Given the description of an element on the screen output the (x, y) to click on. 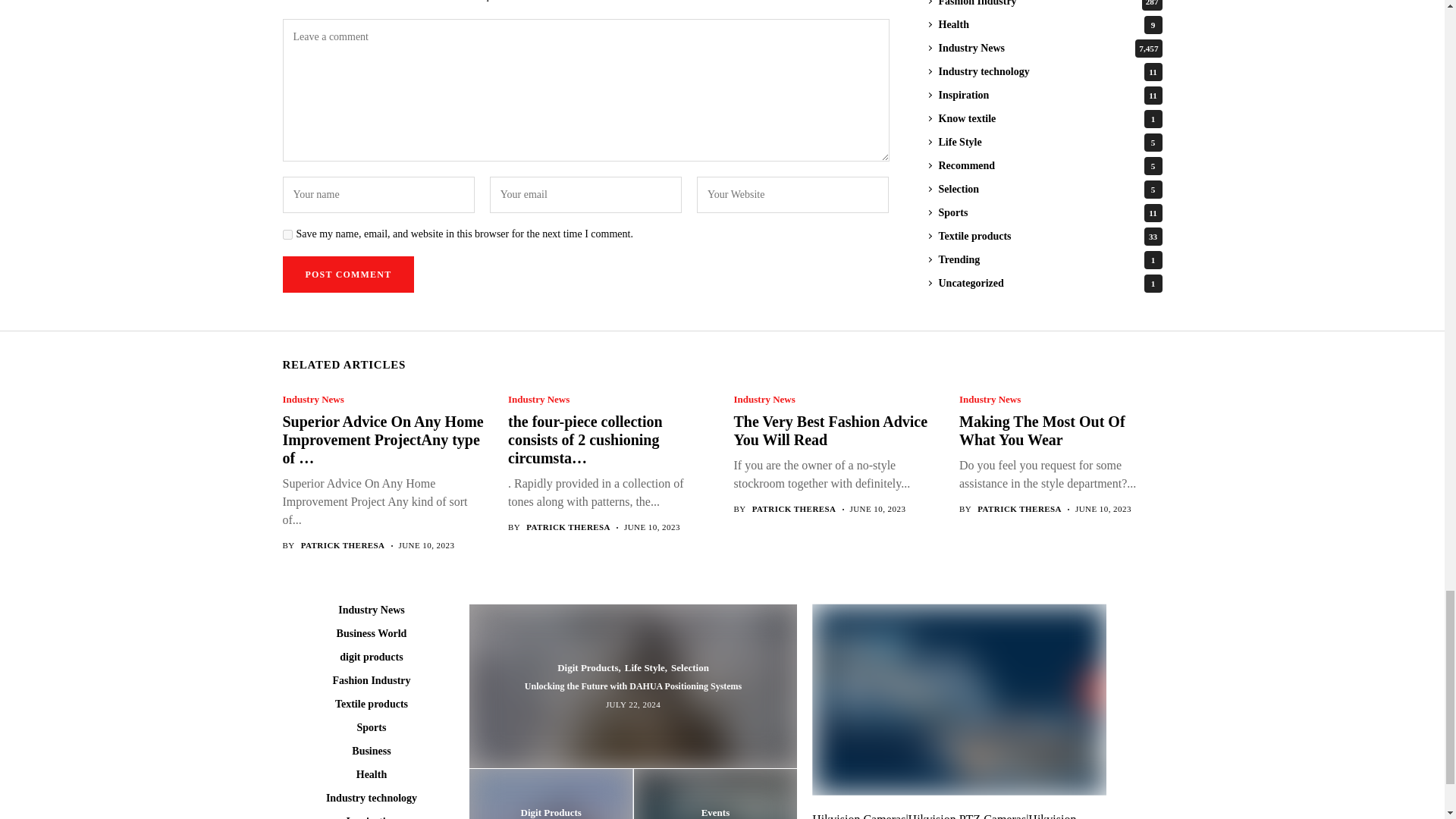
Posts by Patrick Theresa (1018, 509)
Posts by Patrick Theresa (343, 545)
Post Comment (347, 274)
Posts by Patrick Theresa (567, 527)
yes (287, 234)
Posts by Patrick Theresa (793, 509)
